Given the description of an element on the screen output the (x, y) to click on. 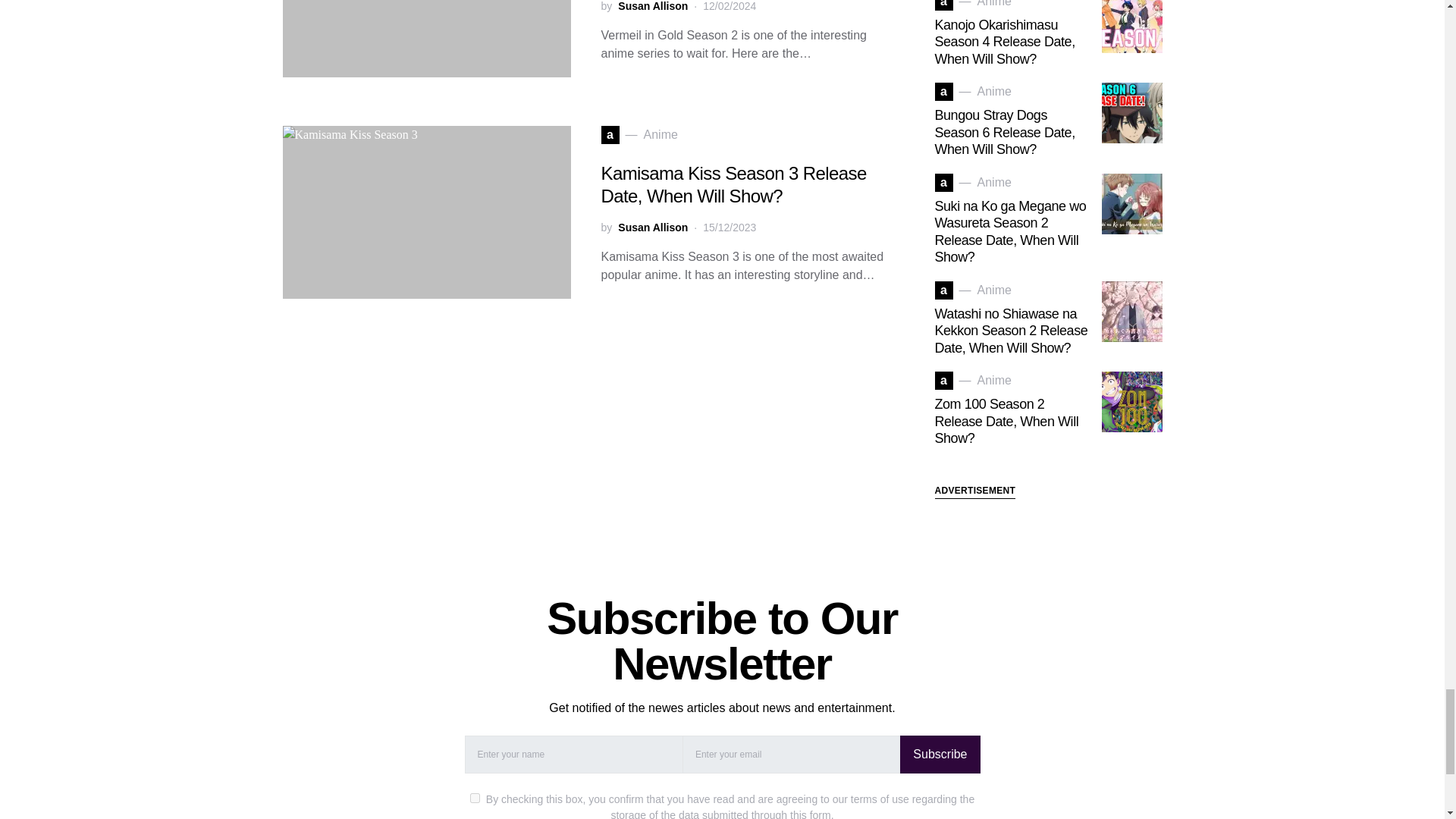
on (475, 798)
View all posts by Susan Allison (652, 7)
